Given the description of an element on the screen output the (x, y) to click on. 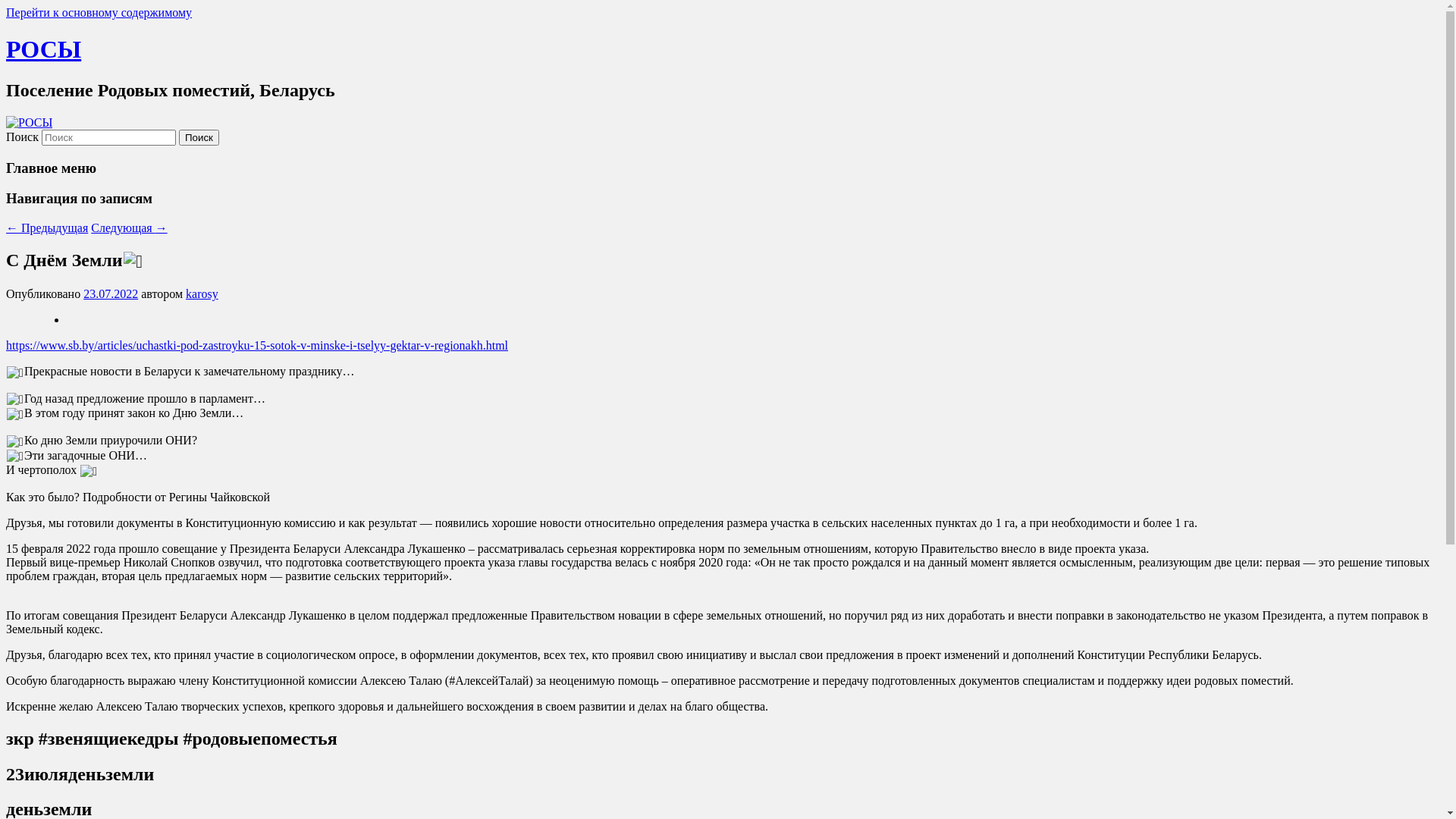
23.07.2022 Element type: text (110, 293)
karosy Element type: text (201, 293)
